Given the description of an element on the screen output the (x, y) to click on. 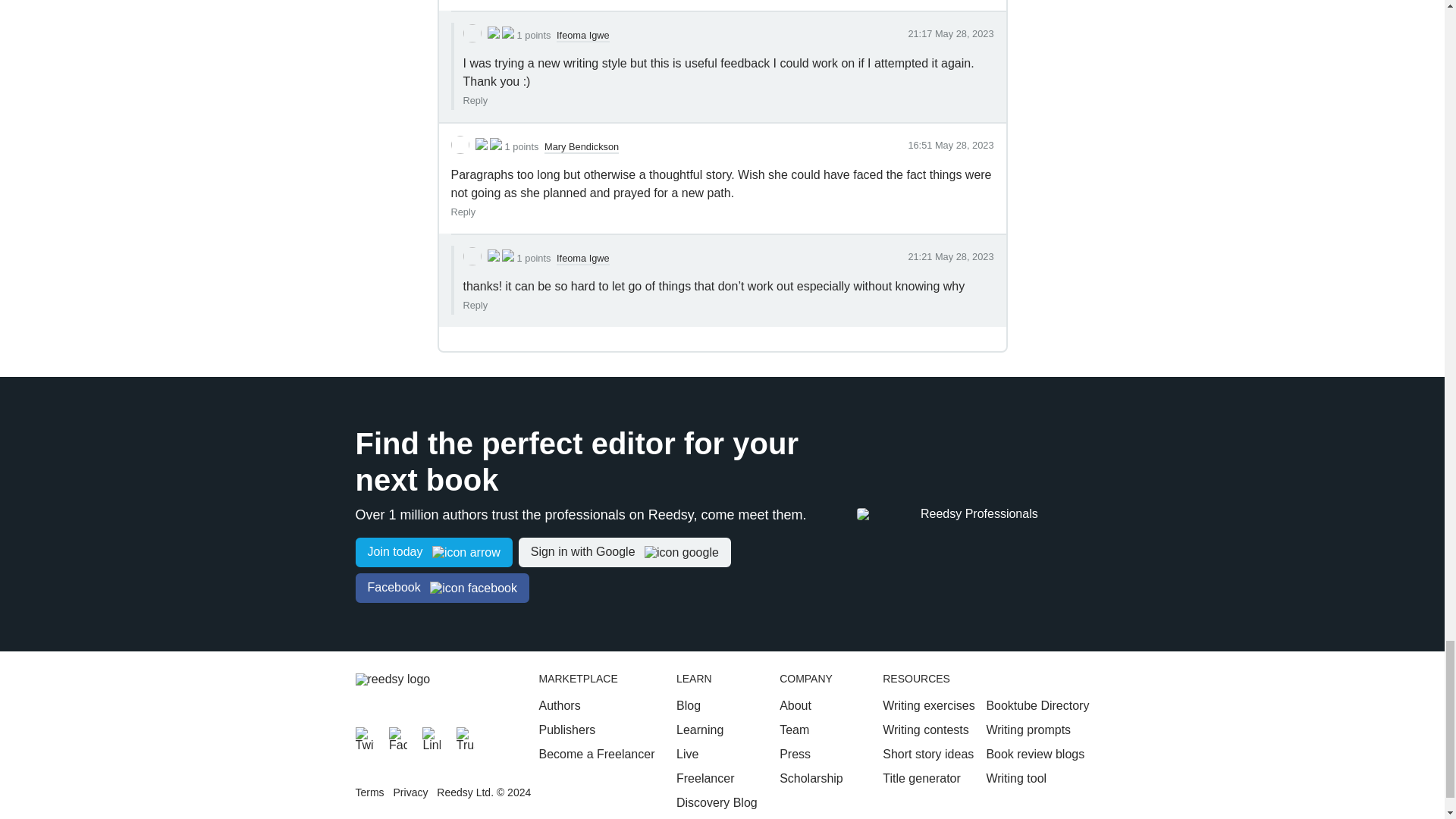
Trustpilot (465, 736)
Sign up (433, 552)
LinkedIn (431, 736)
Twitter (363, 736)
Sign in with Google (624, 552)
Sign in with Facebook (441, 587)
Facebook (397, 736)
